Given the description of an element on the screen output the (x, y) to click on. 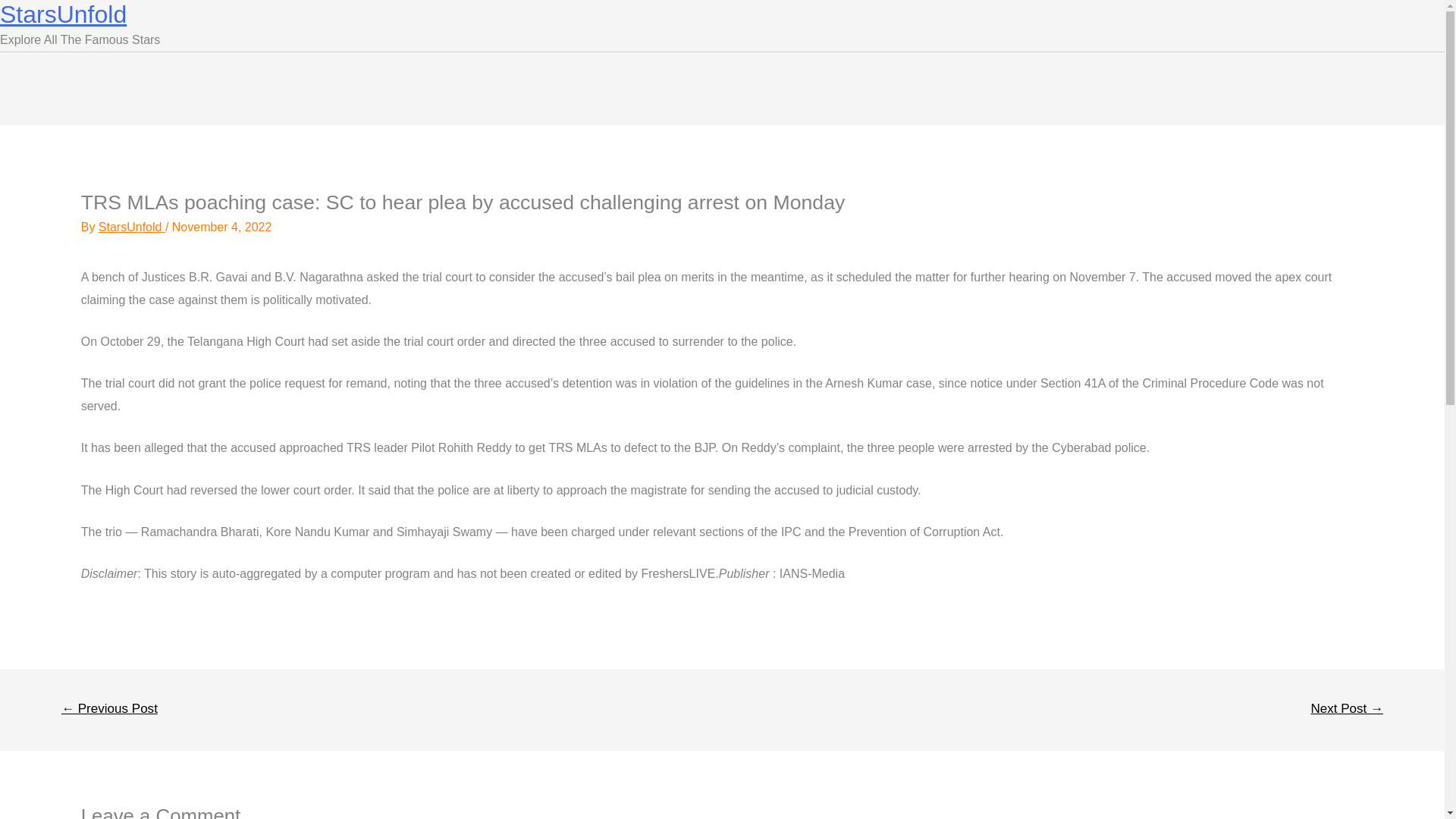
StarsUnfold (132, 226)
StarsUnfold (63, 13)
View all posts by StarsUnfold (132, 226)
